Given the description of an element on the screen output the (x, y) to click on. 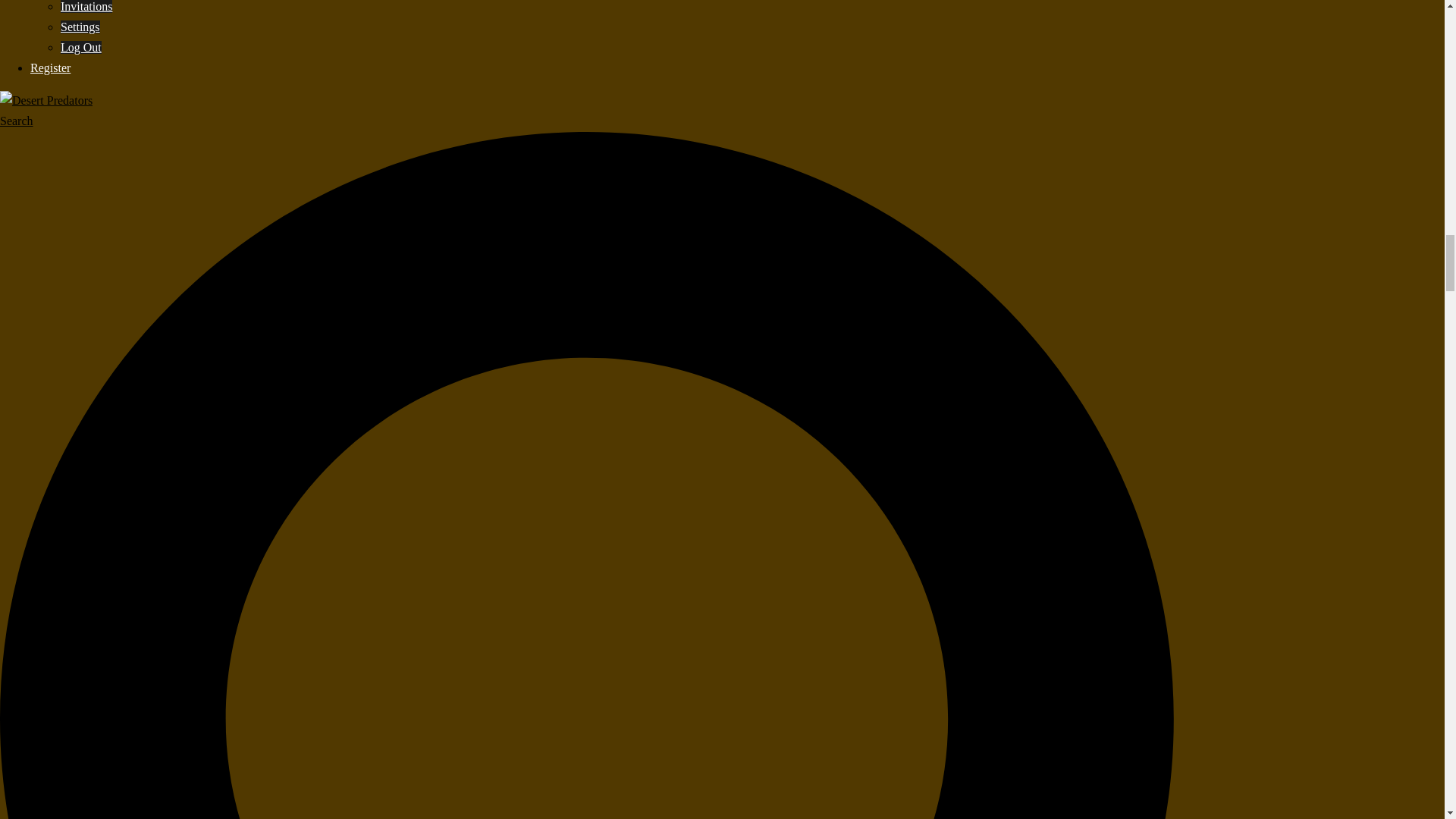
Desert Predators (46, 100)
Settings (80, 26)
Invitations (86, 6)
Log Out (81, 47)
Register (49, 67)
